Given the description of an element on the screen output the (x, y) to click on. 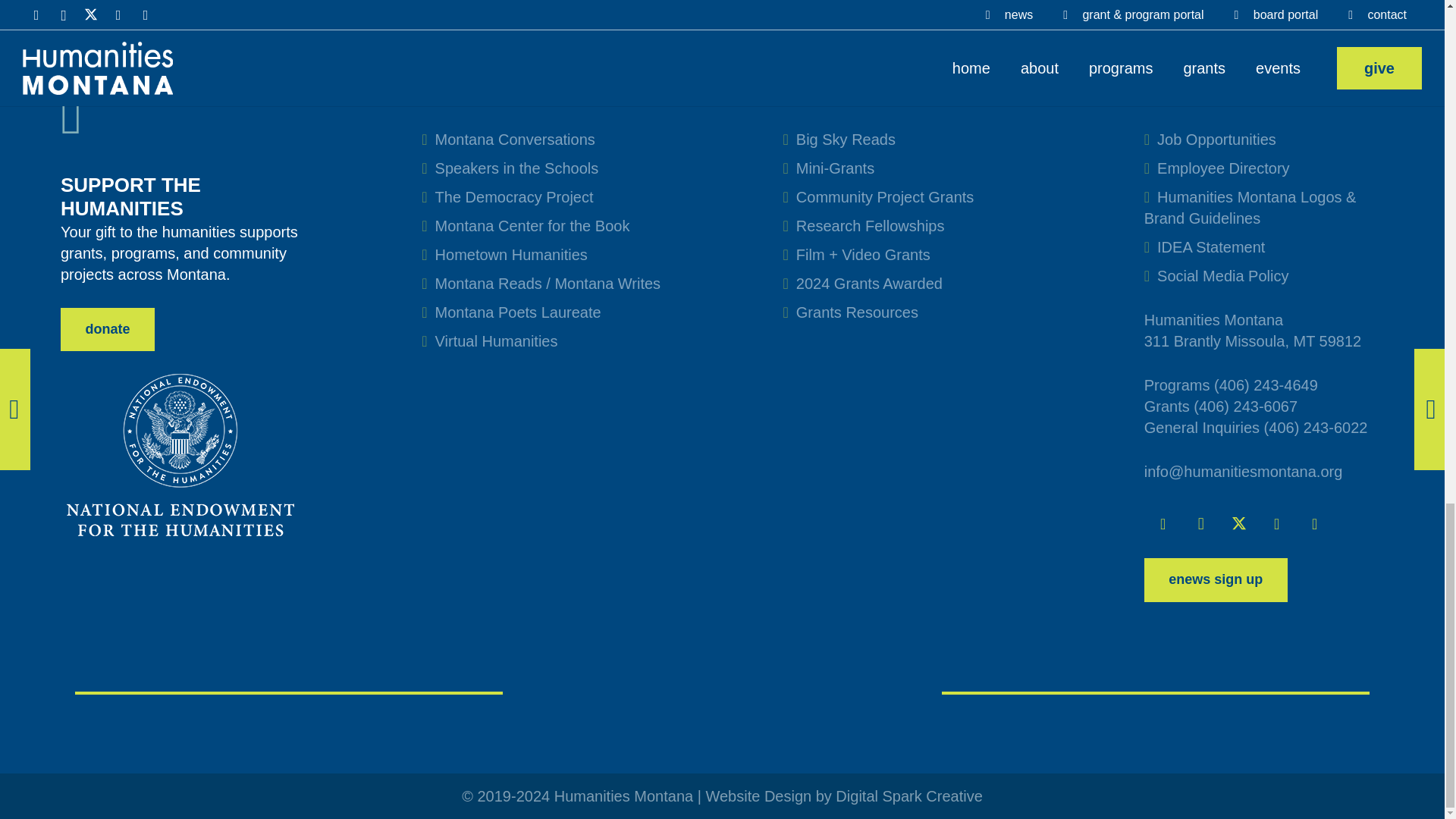
Instagram (1201, 523)
Facebook (1163, 523)
Twitter (1238, 523)
Donate (107, 329)
Flickr (1314, 523)
YouTube (1276, 523)
enews sign up (1215, 579)
